Given the description of an element on the screen output the (x, y) to click on. 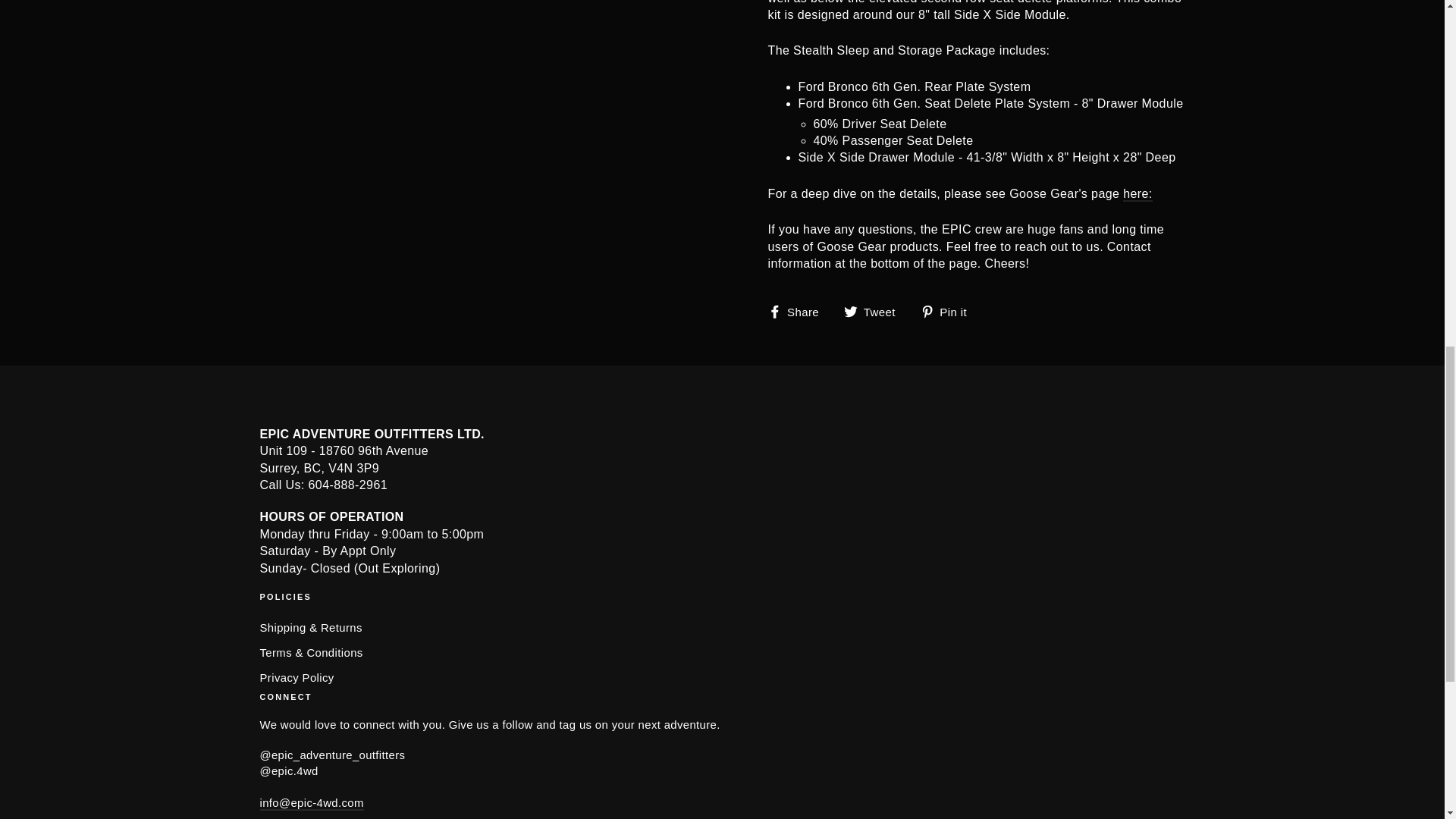
Share on Facebook (798, 311)
Tweet on Twitter (875, 311)
Pin on Pinterest (949, 311)
